Given the description of an element on the screen output the (x, y) to click on. 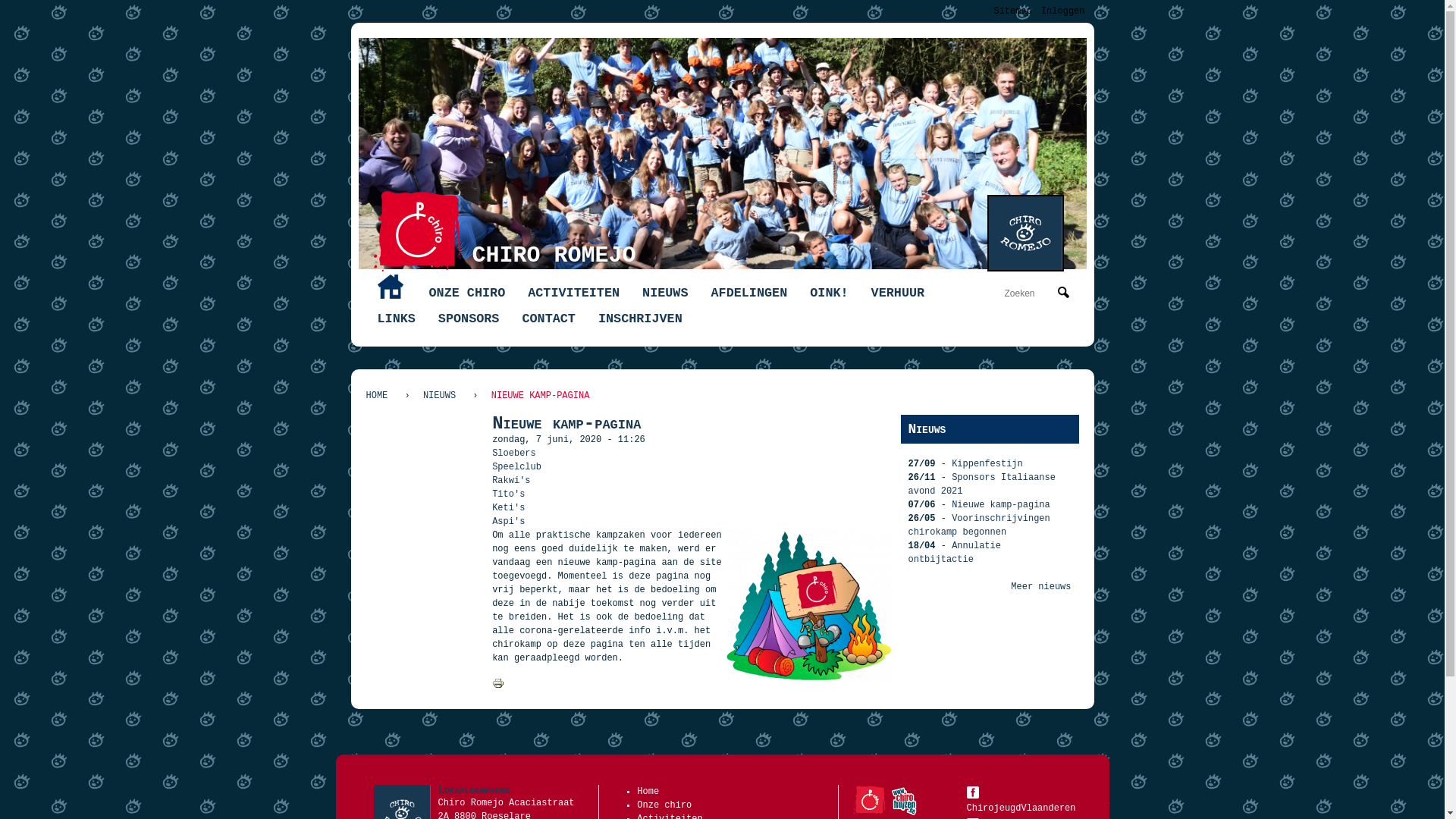
NIEUWS Element type: text (439, 395)
Facebook Element type: hover (972, 792)
CHIRO ROMEJO Element type: text (553, 255)
CONTACT Element type: text (548, 319)
Home Element type: hover (416, 231)
NIEUWS Element type: text (664, 293)
Home Element type: text (647, 791)
Meer nieuws Element type: text (1040, 586)
Geef de woorden op waarnaar u wilt zoeken. Element type: hover (1028, 292)
ONZE CHIRO Element type: text (466, 293)
Sitemap Element type: text (1012, 11)
Annulatie ontbijtactie Element type: text (954, 552)
Rakwi's Element type: text (511, 480)
Voorinschrijvingen chirokamp begonnen Element type: text (979, 525)
Chirojeugd Vlaanderen Element type: hover (868, 799)
HOME Element type: text (380, 395)
AFDELINGEN Element type: text (749, 293)
Home Element type: hover (1025, 232)
Inloggen Element type: text (1063, 11)
VERHUUR Element type: text (897, 293)
HOME Element type: text (389, 286)
Kippenfestijn Element type: text (986, 463)
LINKS Element type: text (395, 319)
Speelclub Element type: text (516, 466)
OINK! Element type: text (828, 293)
SPONSORS Element type: text (468, 319)
Afdrukbare versie Element type: hover (498, 686)
ACTIVITEITEN Element type: text (573, 293)
Onze chiro Element type: text (664, 805)
Chirohuizen Element type: hover (903, 799)
Tito's Element type: text (508, 494)
Nieuwe kamp-pagina Element type: text (1000, 504)
Jump to navigation Element type: text (722, 2)
Aspi's Element type: text (508, 521)
Sponsors Italiaanse avond 2021 Element type: text (981, 484)
ChirojeugdVlaanderen Element type: text (1022, 800)
INSCHRIJVEN Element type: text (639, 319)
Nieuwe kamp-pagina Element type: hover (808, 679)
Keti's Element type: text (508, 507)
Sloebers Element type: text (514, 453)
